Given the description of an element on the screen output the (x, y) to click on. 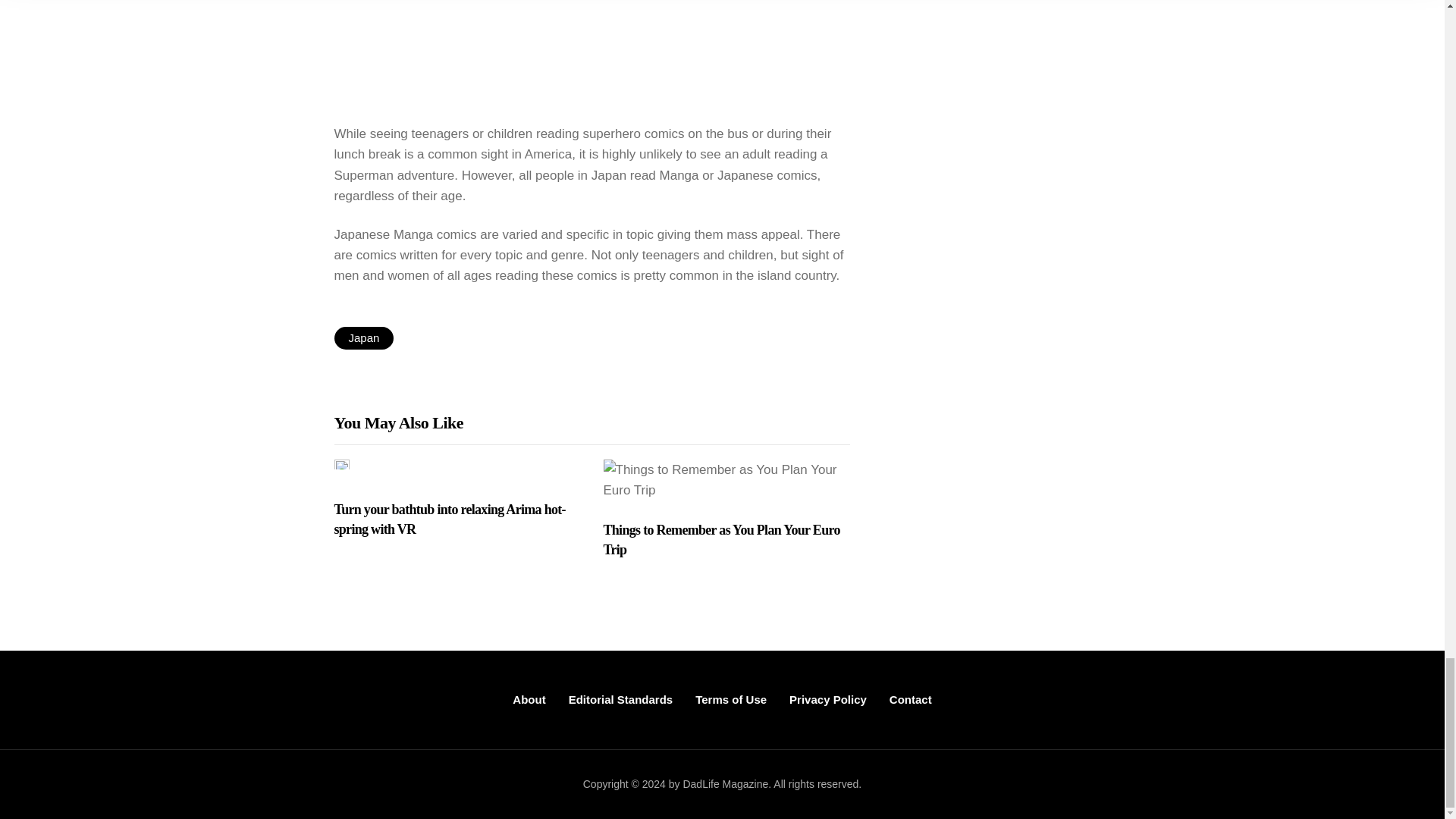
Turn your bathtub into relaxing Arima hot-spring with VR (456, 519)
Things to Remember as You Plan Your Euro Trip (727, 540)
Japan (363, 337)
